Given the description of an element on the screen output the (x, y) to click on. 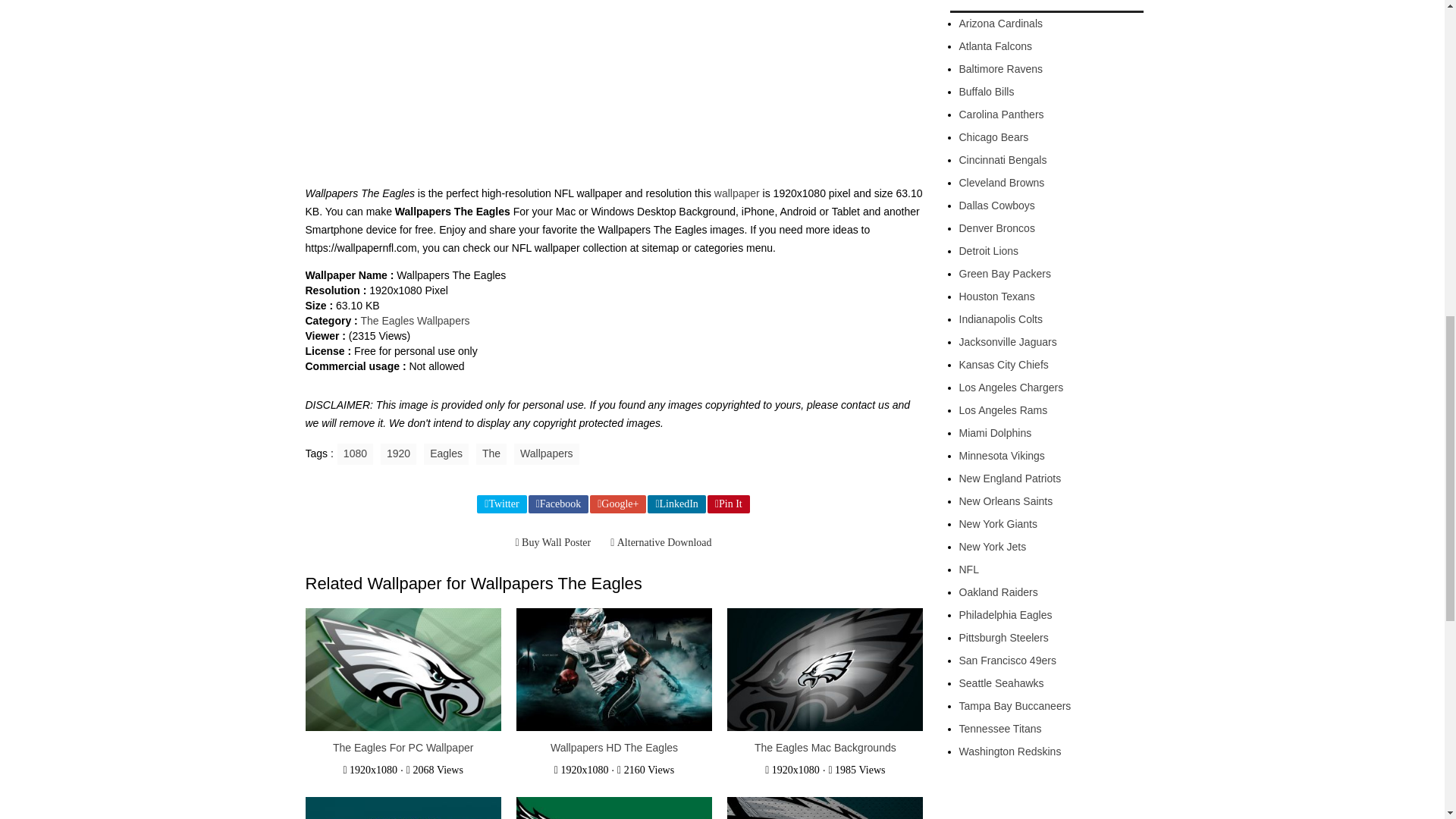
Eagles (445, 454)
The Eagles Mac Backgrounds (825, 747)
Wallpapers HD The Eagles (614, 747)
The Eagles Wallpapers (413, 320)
Wallpapers HD The Eagles (614, 747)
The Eagles For PC Wallpaper (402, 670)
The Eagles Mac Backgrounds (824, 670)
1920 (398, 454)
The Eagles For PC Wallpaper (403, 747)
Pin It (728, 504)
Buy Wall Poster (552, 542)
Wallpapers (546, 454)
The Eagles For PC Wallpaper (403, 747)
The Eagles Mac Backgrounds (825, 747)
Advertisement (613, 86)
